Given the description of an element on the screen output the (x, y) to click on. 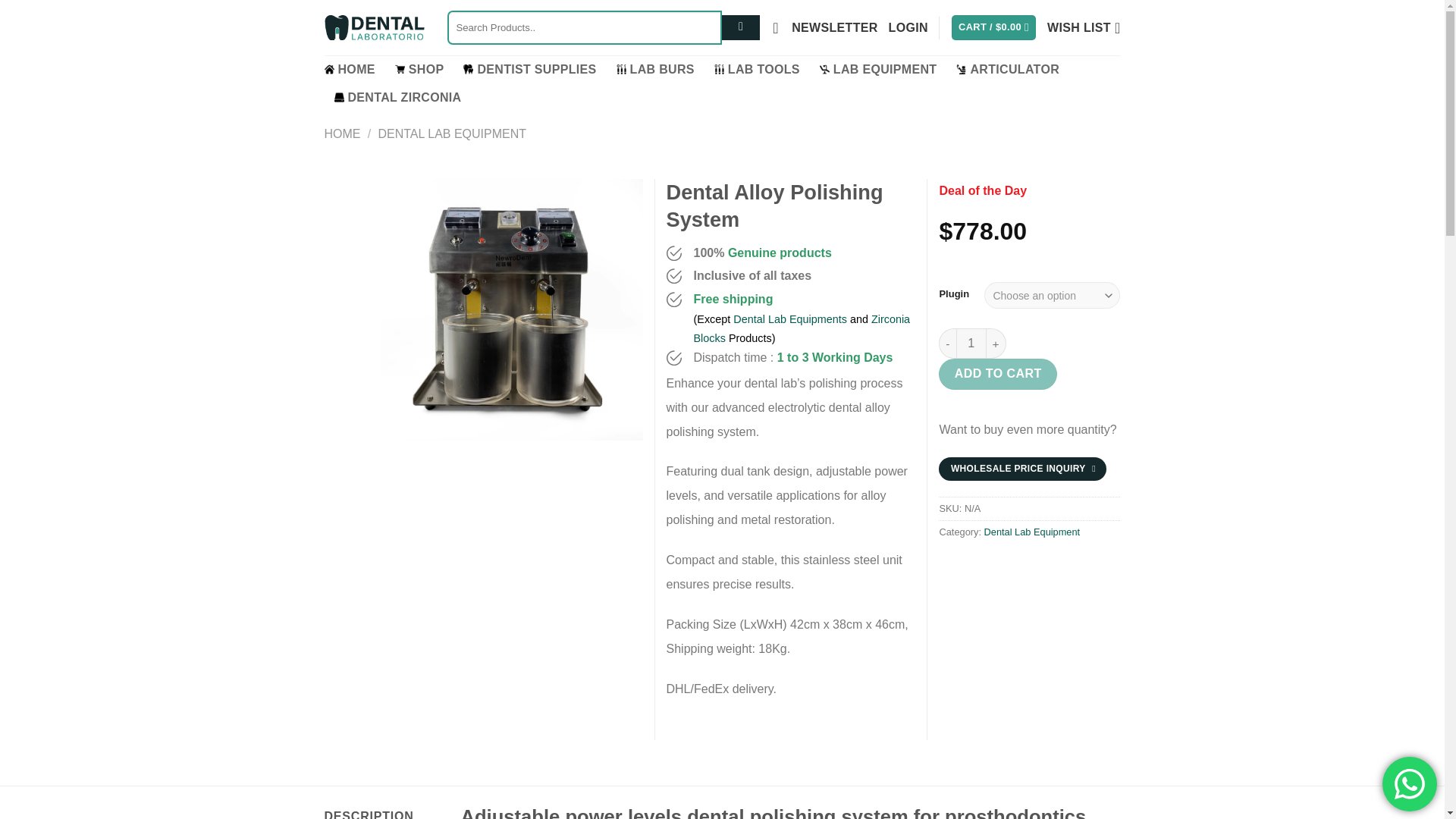
Zirconia Blocks (801, 328)
1 (971, 343)
DENTIST SUPPLIES (529, 69)
HOME (342, 133)
ARTICULATOR (1007, 69)
DENTAL LAB EQUIPMENT (451, 133)
DENTAL ZIRCONIA (397, 97)
WHOLESALE PRICE INQUIRY (1022, 468)
ADD TO CART (998, 373)
Cart (993, 27)
LOGIN (908, 26)
Search (741, 27)
LAB TOOLS (756, 69)
Dental Laboratorio - Helping you to shape dentistry (374, 27)
Dental Lab Equipment (1032, 531)
